Given the description of an element on the screen output the (x, y) to click on. 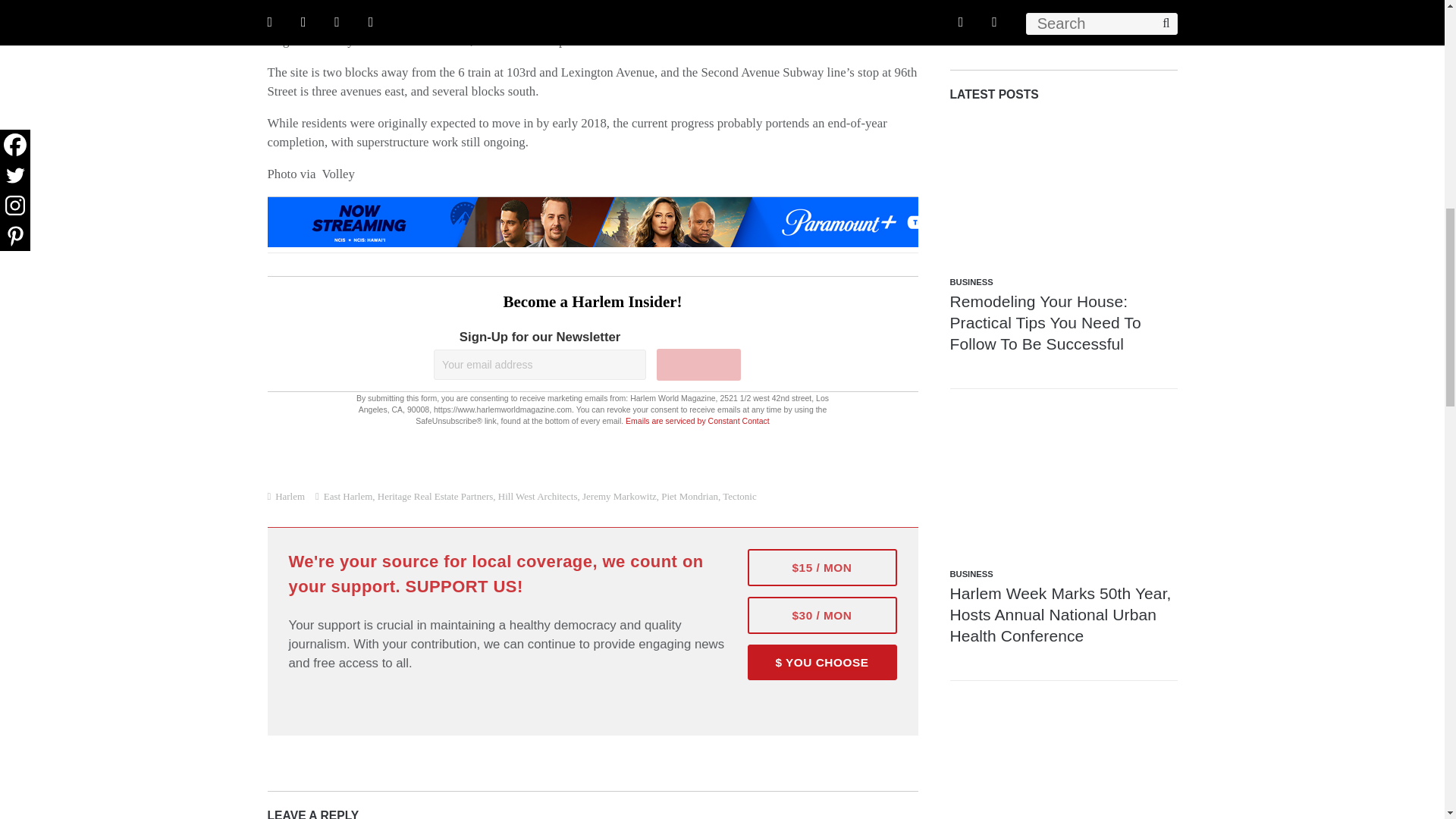
Sign up (698, 364)
East Harlem (438, 40)
Emails are serviced by Constant Contact (698, 420)
Jeremy Markowitz (505, 4)
Heritage Real Estate Partners (435, 496)
Sign up (698, 364)
Heritage Real Estate Partners (341, 4)
East Harlem (347, 496)
Harlem (289, 496)
